Given the description of an element on the screen output the (x, y) to click on. 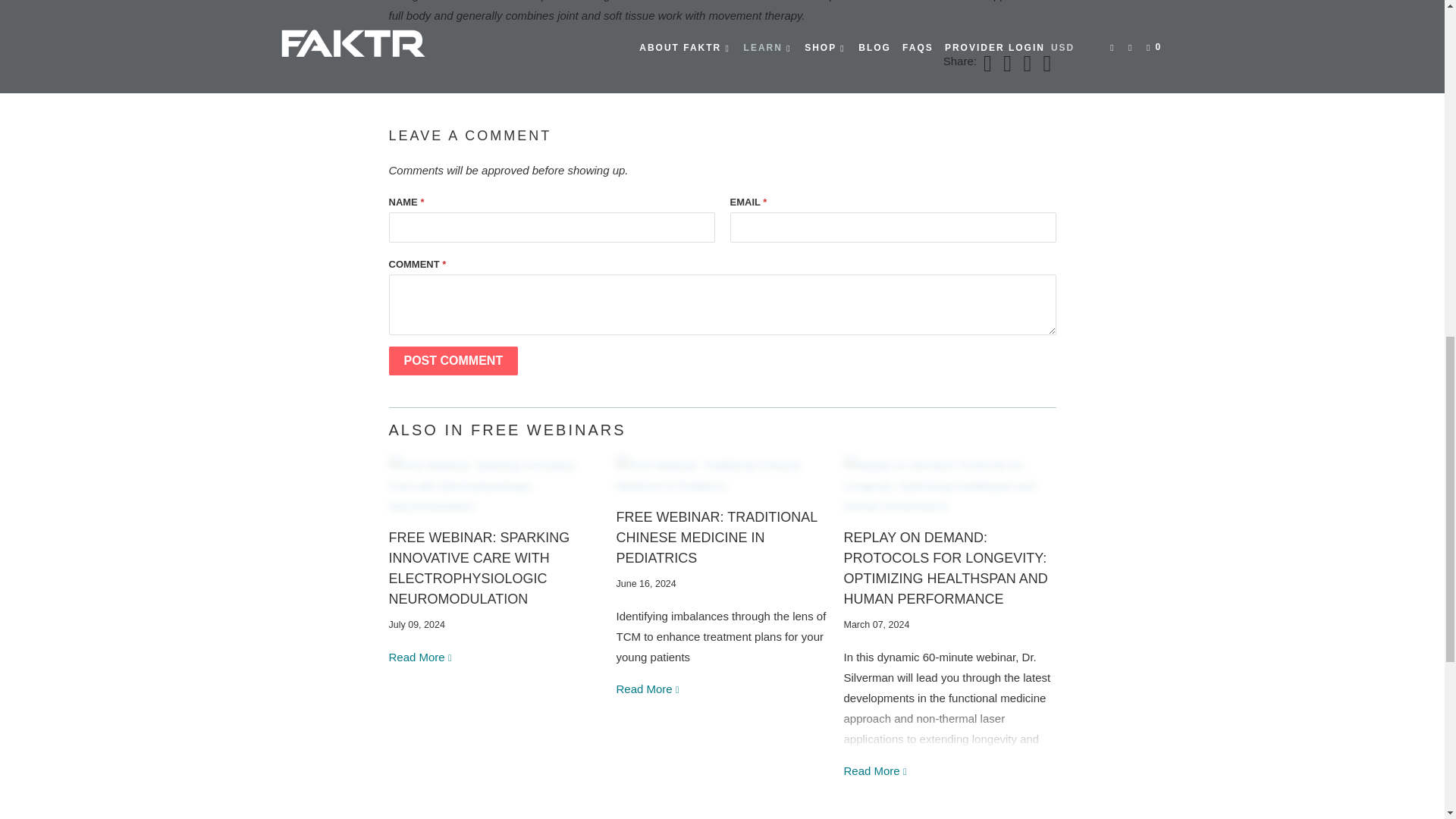
Free Webinar: Traditional Chinese Medicine in Pediatrics (647, 688)
Post comment (453, 360)
Free Webinar: Traditional Chinese Medicine in Pediatrics (721, 475)
Free Webinar: Traditional Chinese Medicine in Pediatrics (715, 537)
